Given the description of an element on the screen output the (x, y) to click on. 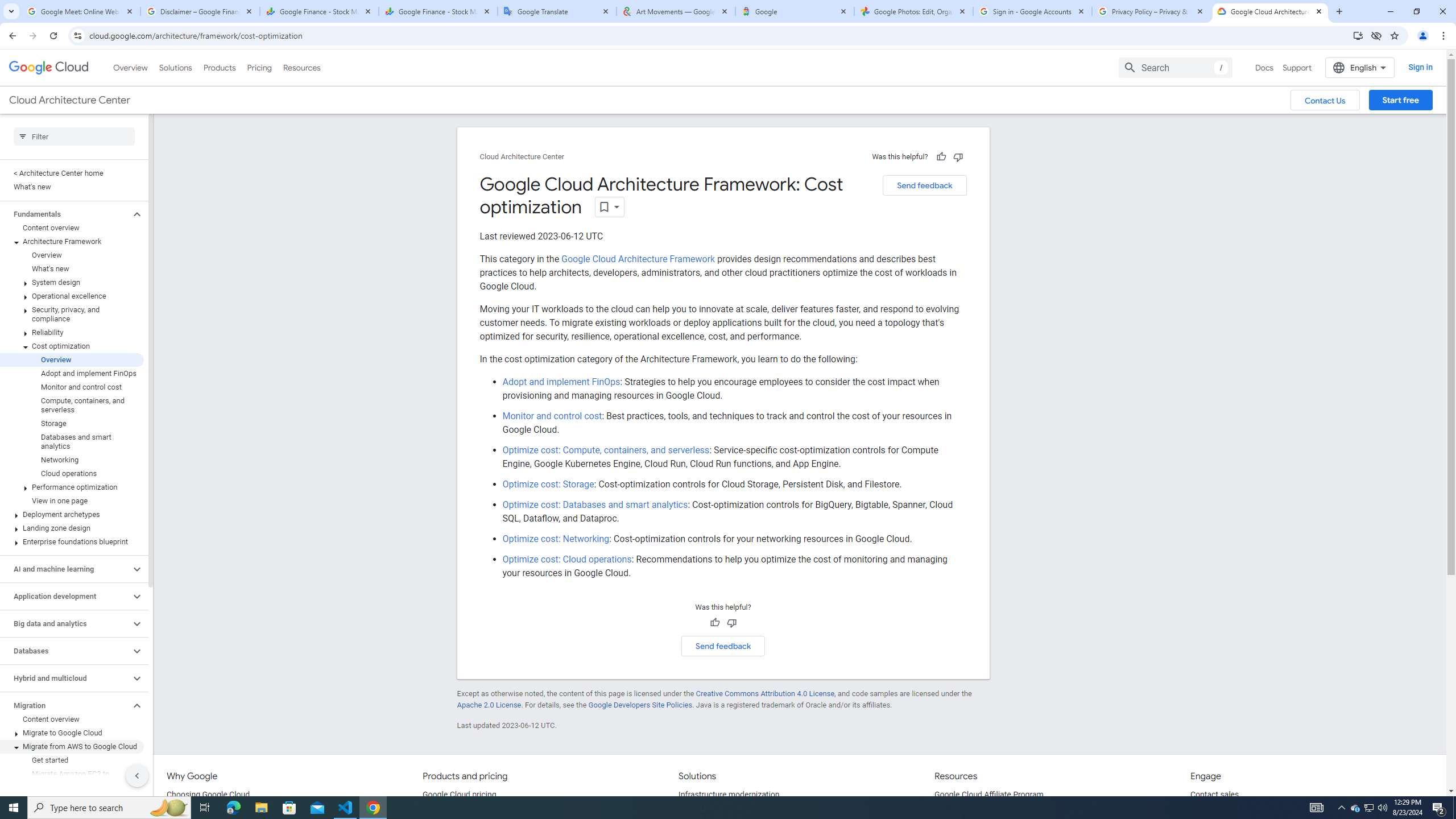
English (1359, 67)
Infrastructure modernization (729, 795)
Cloud operations (72, 473)
Optimize cost: Databases and smart analytics (595, 504)
Migrate from AWS to Google Cloud (72, 746)
System design (72, 282)
AI and machine learning (64, 568)
Not helpful (731, 622)
Helpful (714, 622)
